Given the description of an element on the screen output the (x, y) to click on. 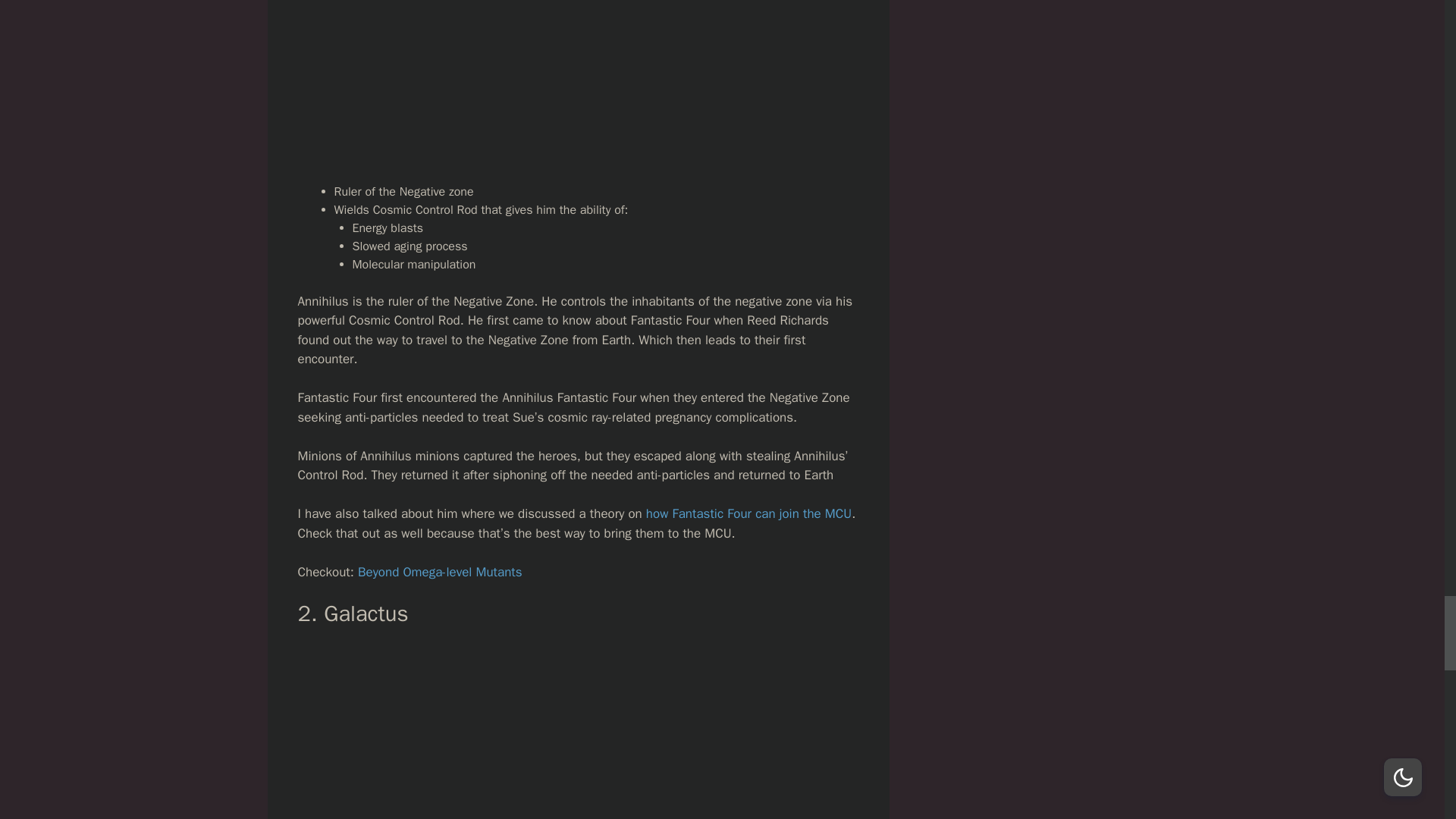
how Fantastic Four can join the MCU (748, 513)
Beyond Omega-level Mutants (440, 571)
